Given the description of an element on the screen output the (x, y) to click on. 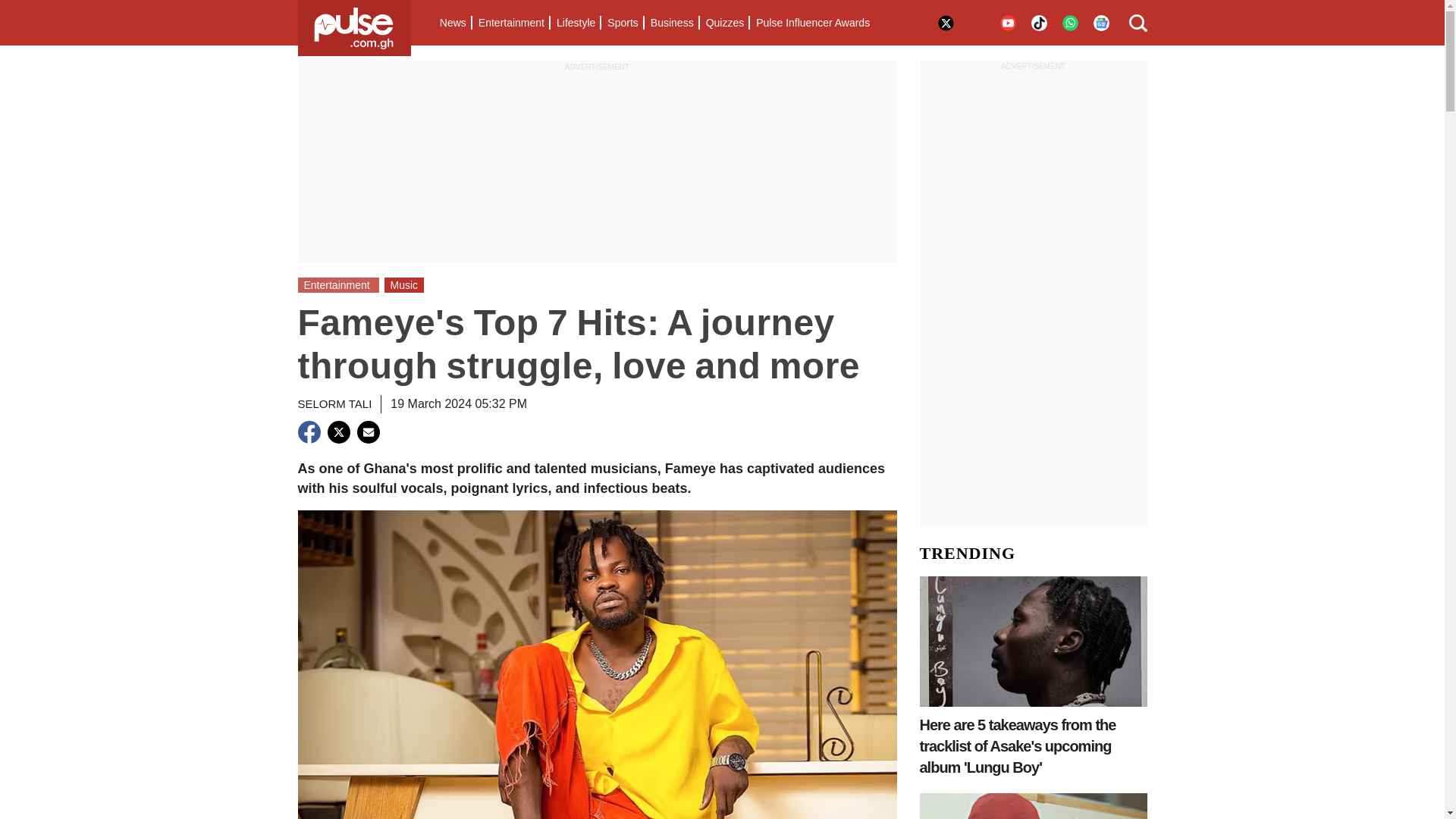
Entertainment (510, 22)
Sports (622, 22)
Business (672, 22)
Lifestyle (575, 22)
